Given the description of an element on the screen output the (x, y) to click on. 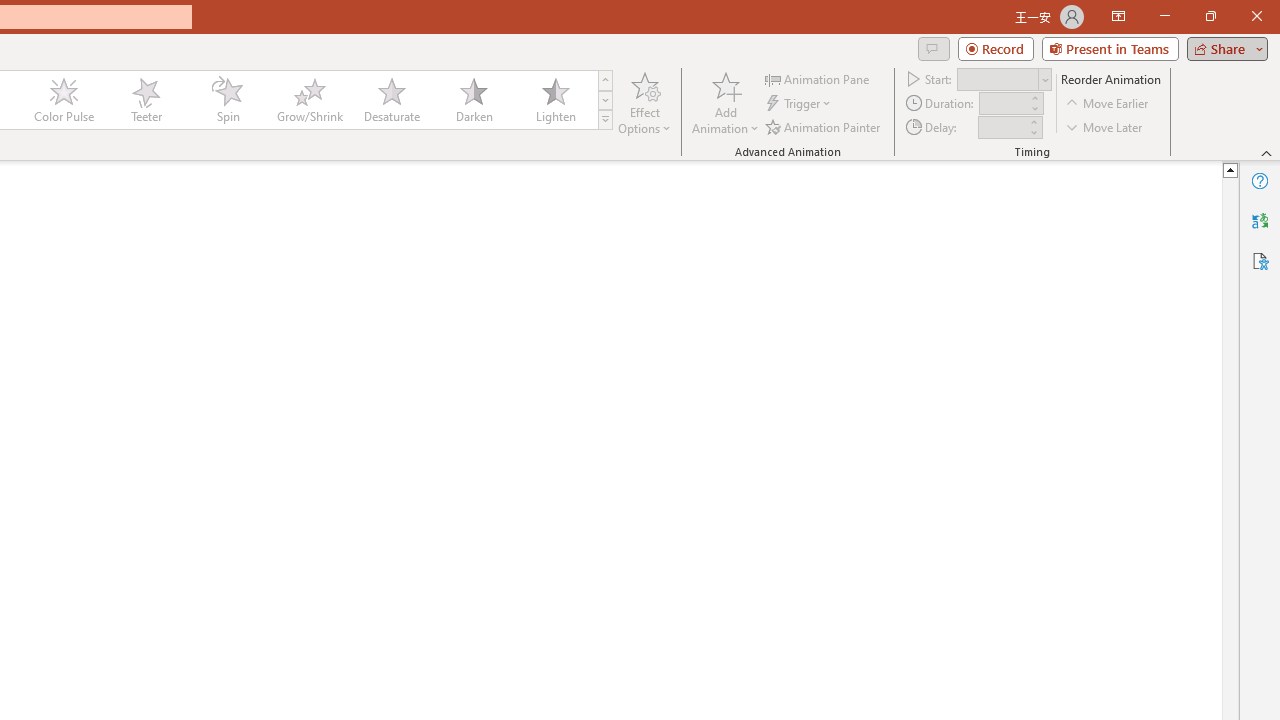
Animation Pane (818, 78)
Add Animation (725, 102)
Grow/Shrink (309, 100)
Animation Styles (605, 120)
Color Pulse (63, 100)
Move Later (1105, 126)
Animation Duration (1003, 103)
